Given the description of an element on the screen output the (x, y) to click on. 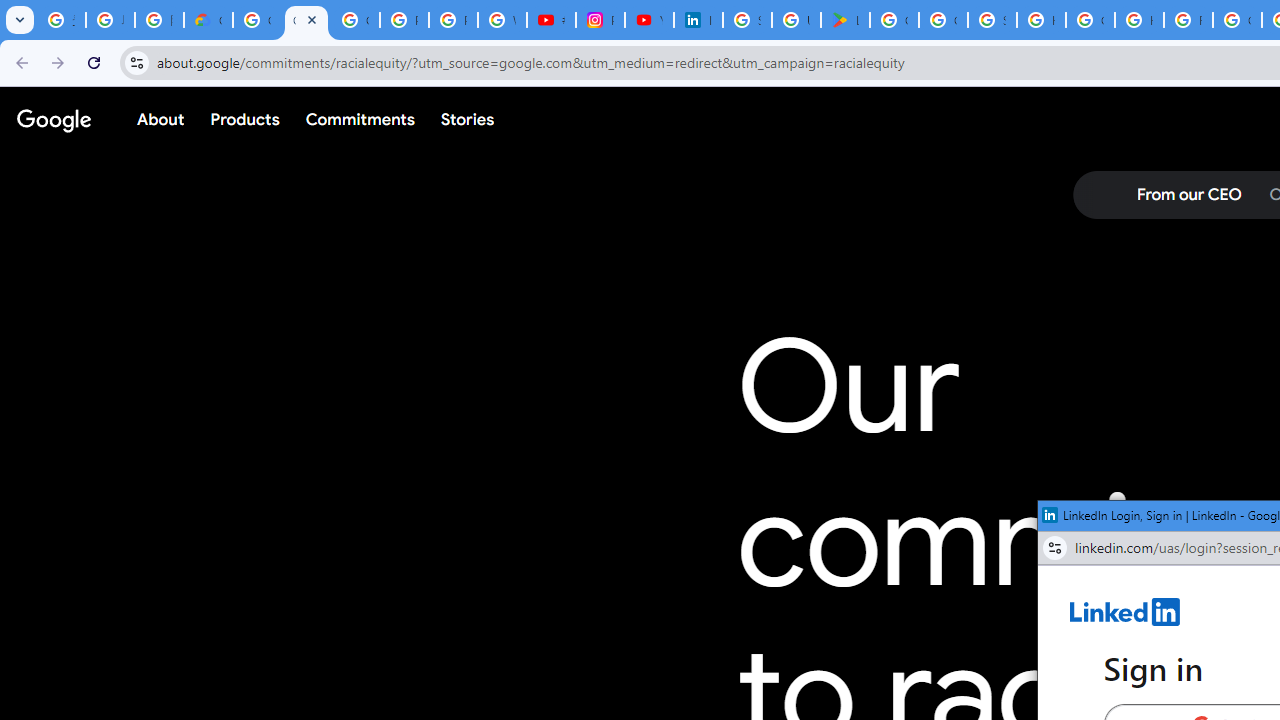
AutomationID: linkedin-logo (1125, 611)
